Given the description of an element on the screen output the (x, y) to click on. 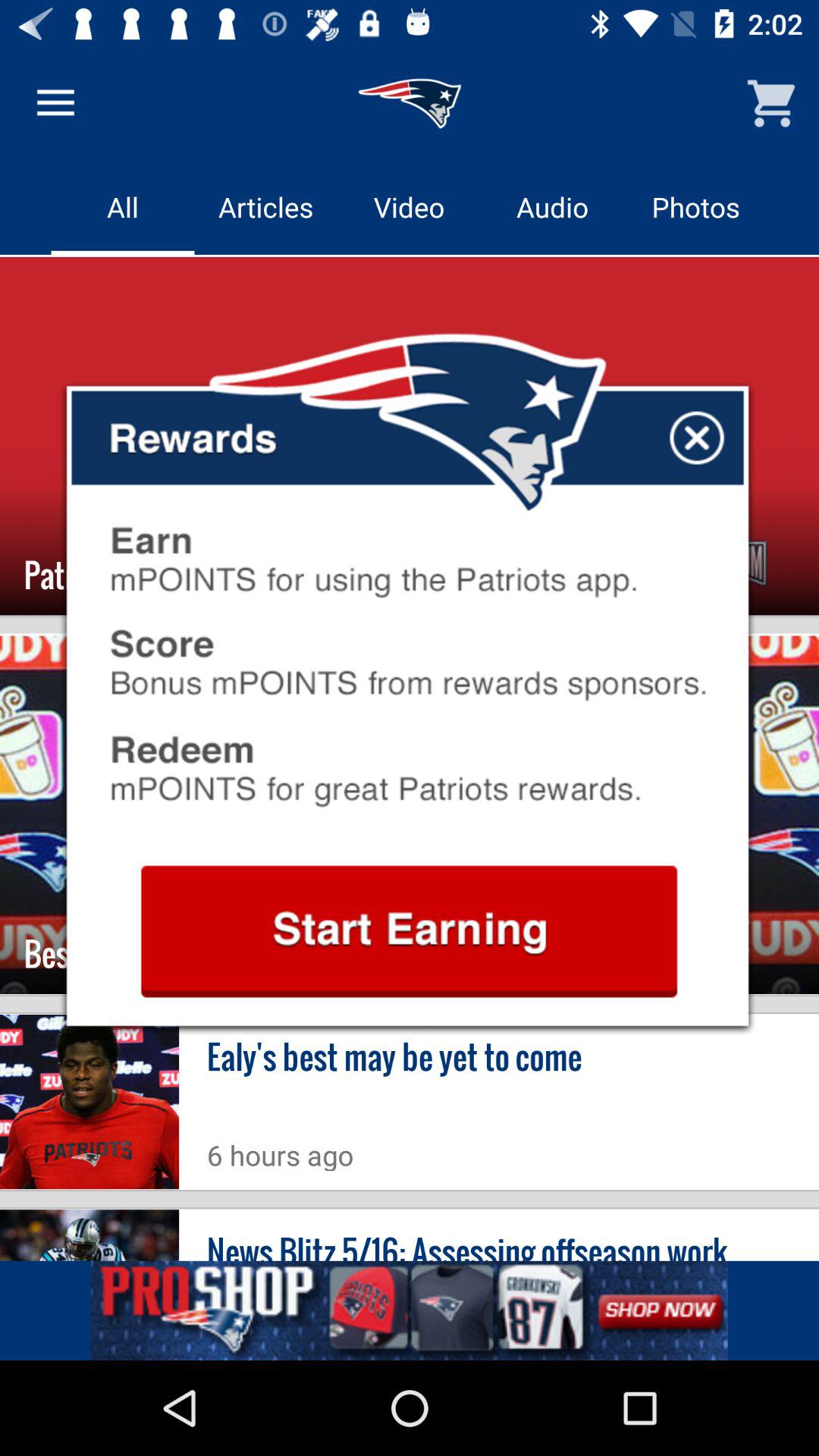
start earning (408, 931)
